Given the description of an element on the screen output the (x, y) to click on. 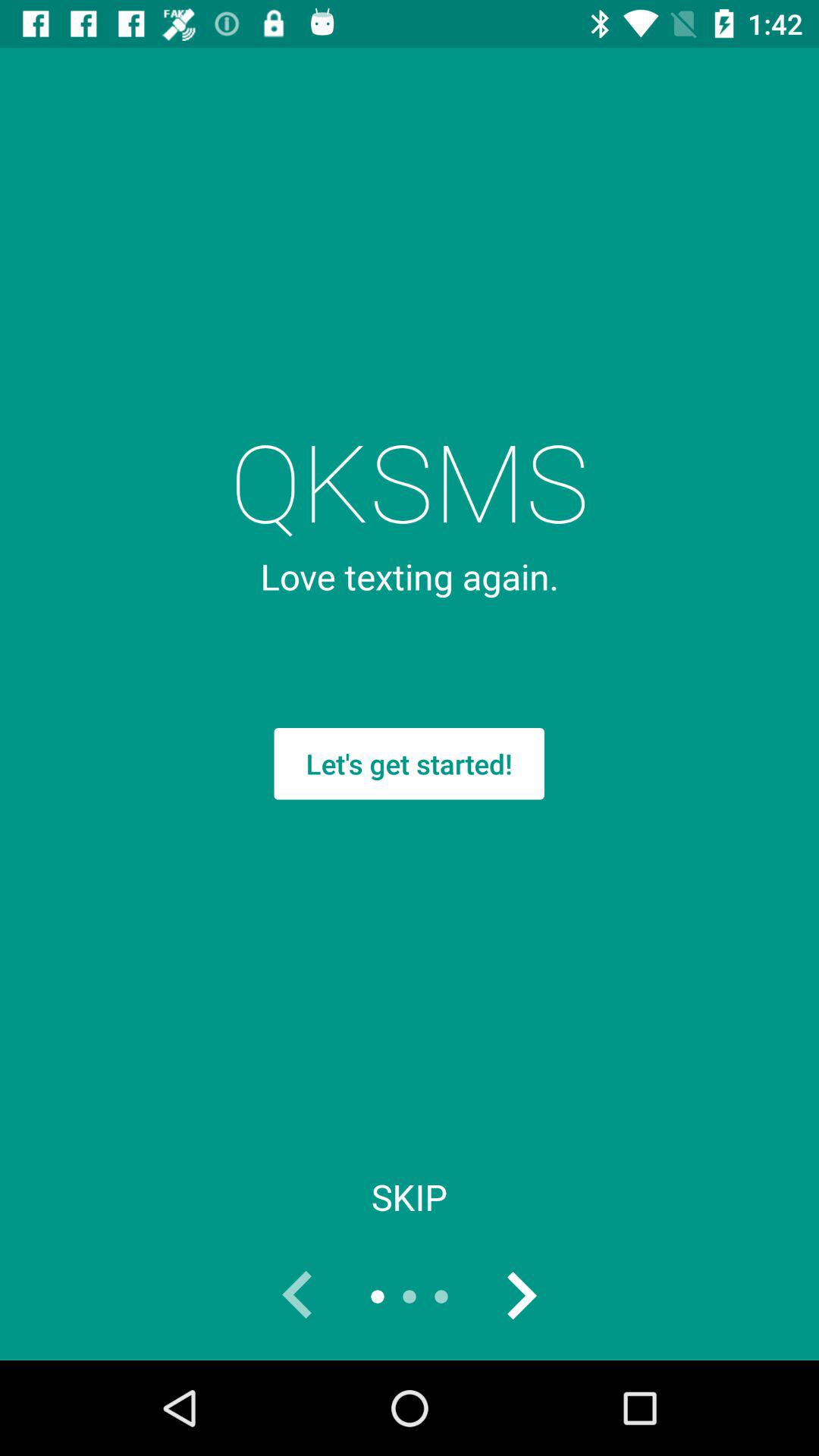
go next (520, 1296)
